Given the description of an element on the screen output the (x, y) to click on. 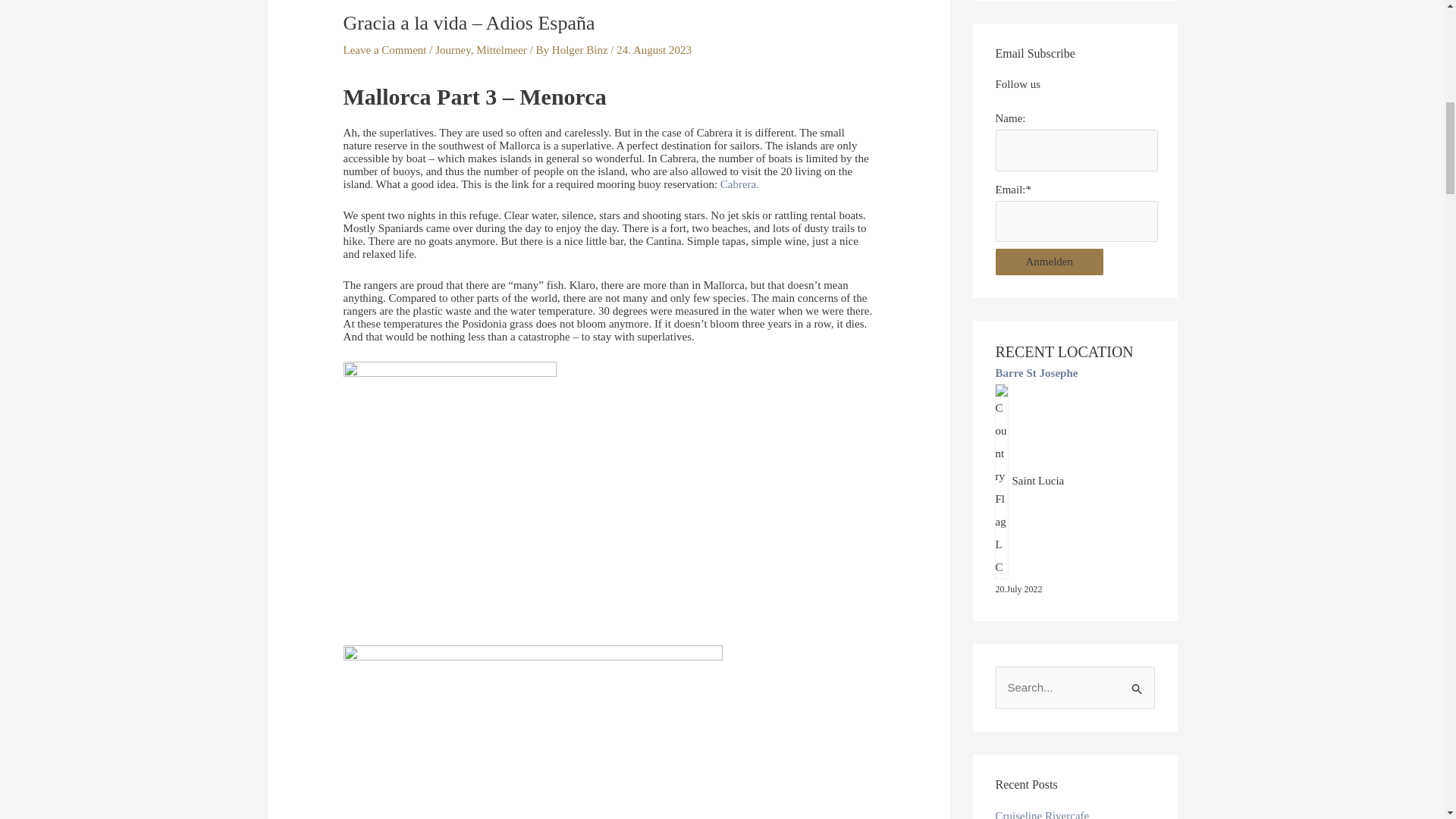
Mittelmeer (501, 50)
Anmelden (1048, 261)
Leave a Comment (384, 50)
Anmelden (1048, 261)
Cabrera. (739, 184)
View all posts by Holger Binz (580, 50)
Search (1137, 681)
Journey (452, 50)
Holger Binz (580, 50)
Search (1137, 681)
